Given the description of an element on the screen output the (x, y) to click on. 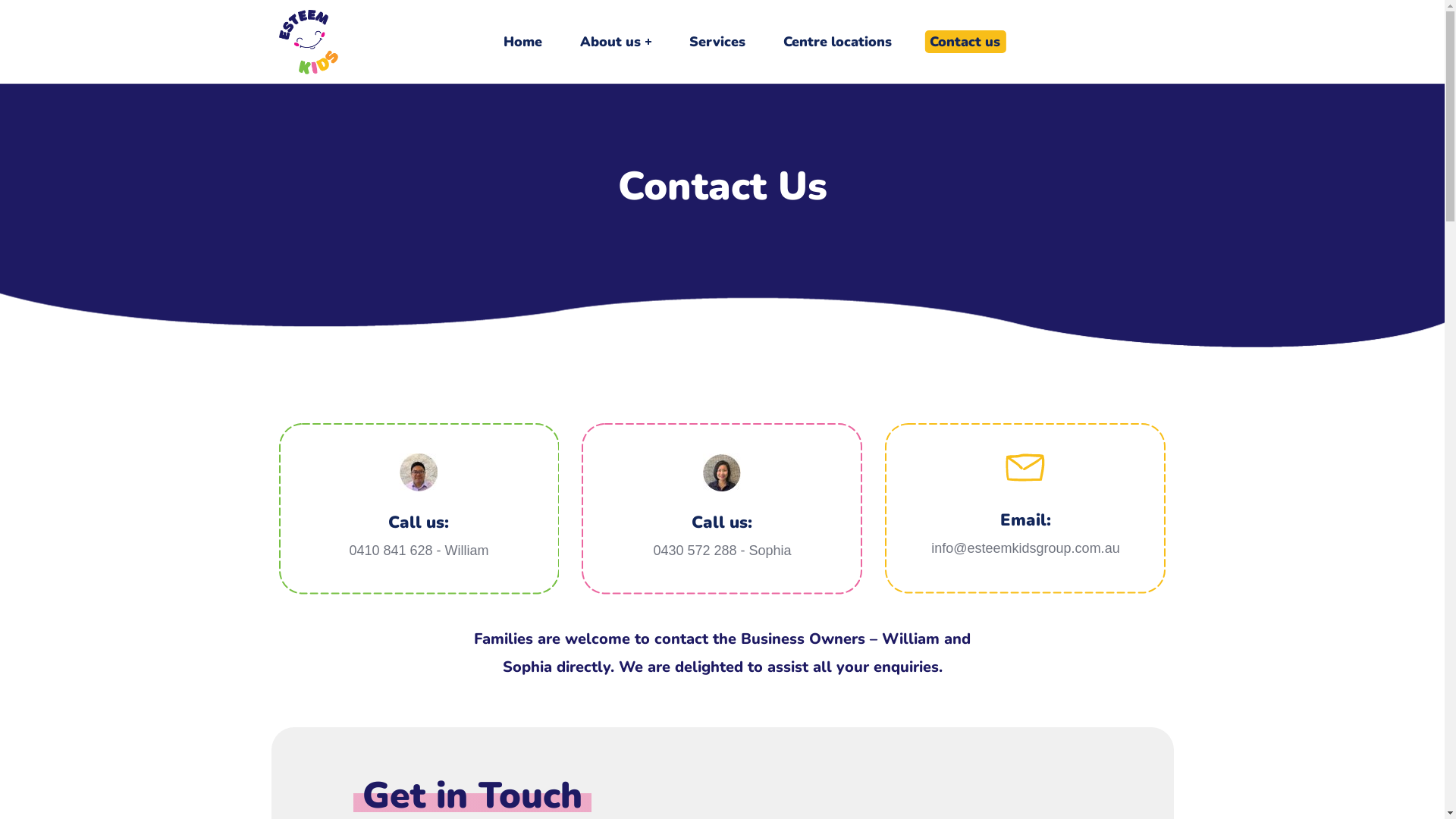
About us Element type: text (615, 41)
Centre locations Element type: text (837, 41)
sphia-80 Element type: hover (721, 472)
Services Element type: text (717, 41)
william-wong Element type: hover (418, 472)
Home Element type: text (522, 41)
Contact us Element type: text (964, 41)
